Given the description of an element on the screen output the (x, y) to click on. 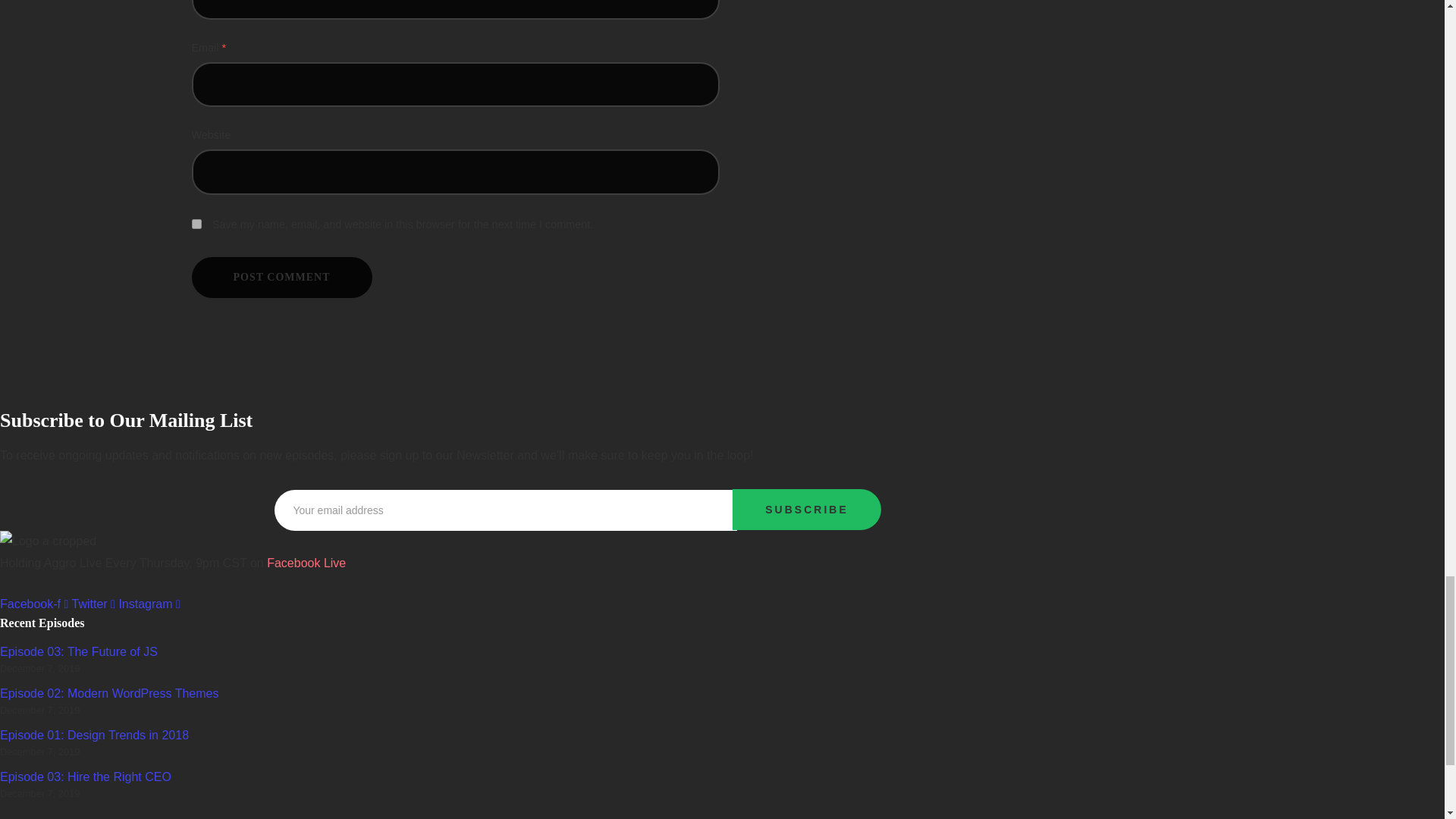
Subscribe (806, 508)
Post Comment (280, 277)
Logo a cropped (48, 541)
yes (195, 224)
Post Comment (280, 277)
